Given the description of an element on the screen output the (x, y) to click on. 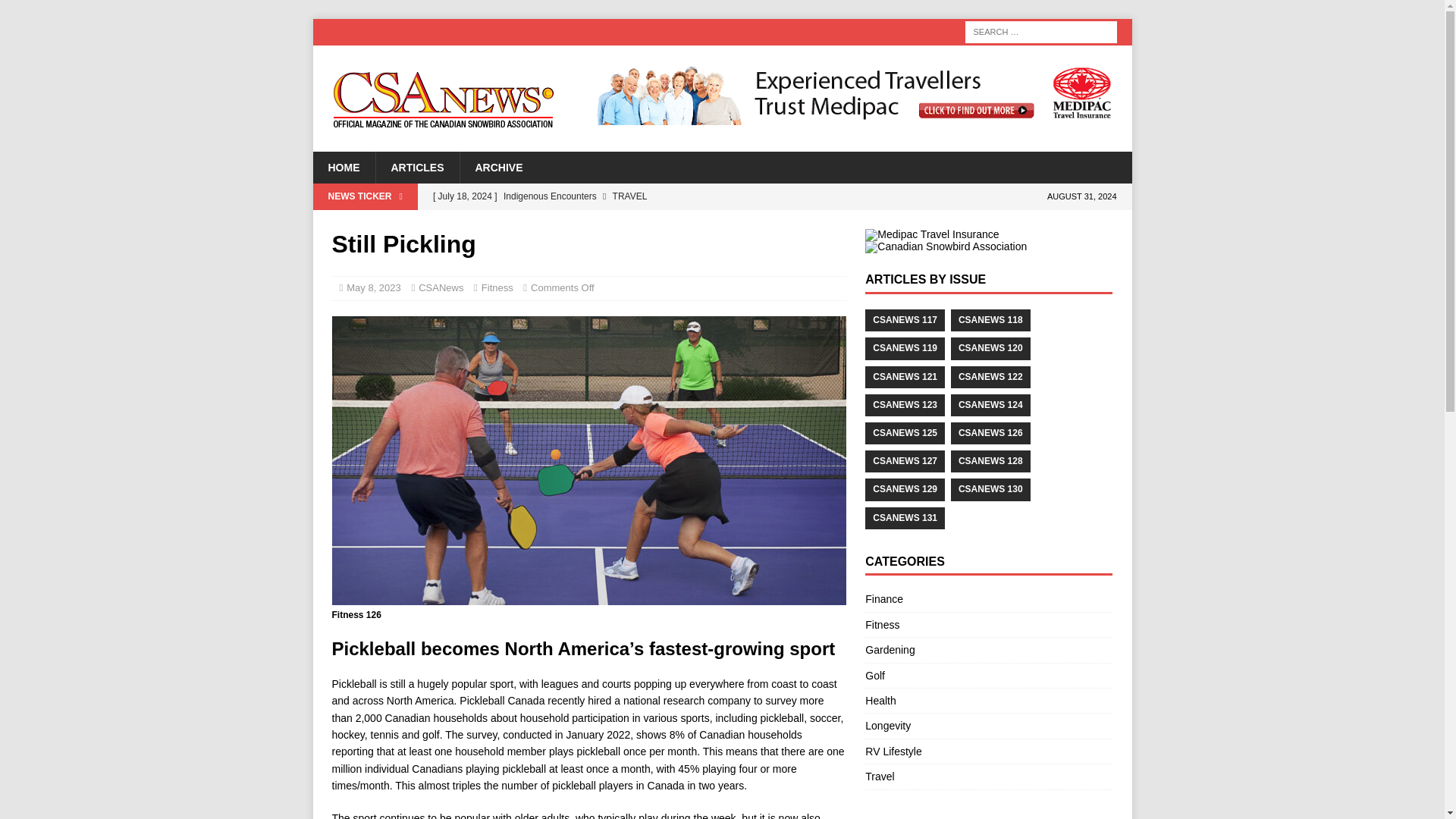
ARCHIVE (499, 167)
HOME (343, 167)
CSANEWS 127 (904, 461)
Indigenous Encounters (634, 196)
CSANews (441, 287)
May 8, 2023 (373, 287)
CSANEWS 123 (904, 404)
ARTICLES (416, 167)
CSANEWS 120 (990, 348)
CSANEWS 126 (990, 433)
